Given the description of an element on the screen output the (x, y) to click on. 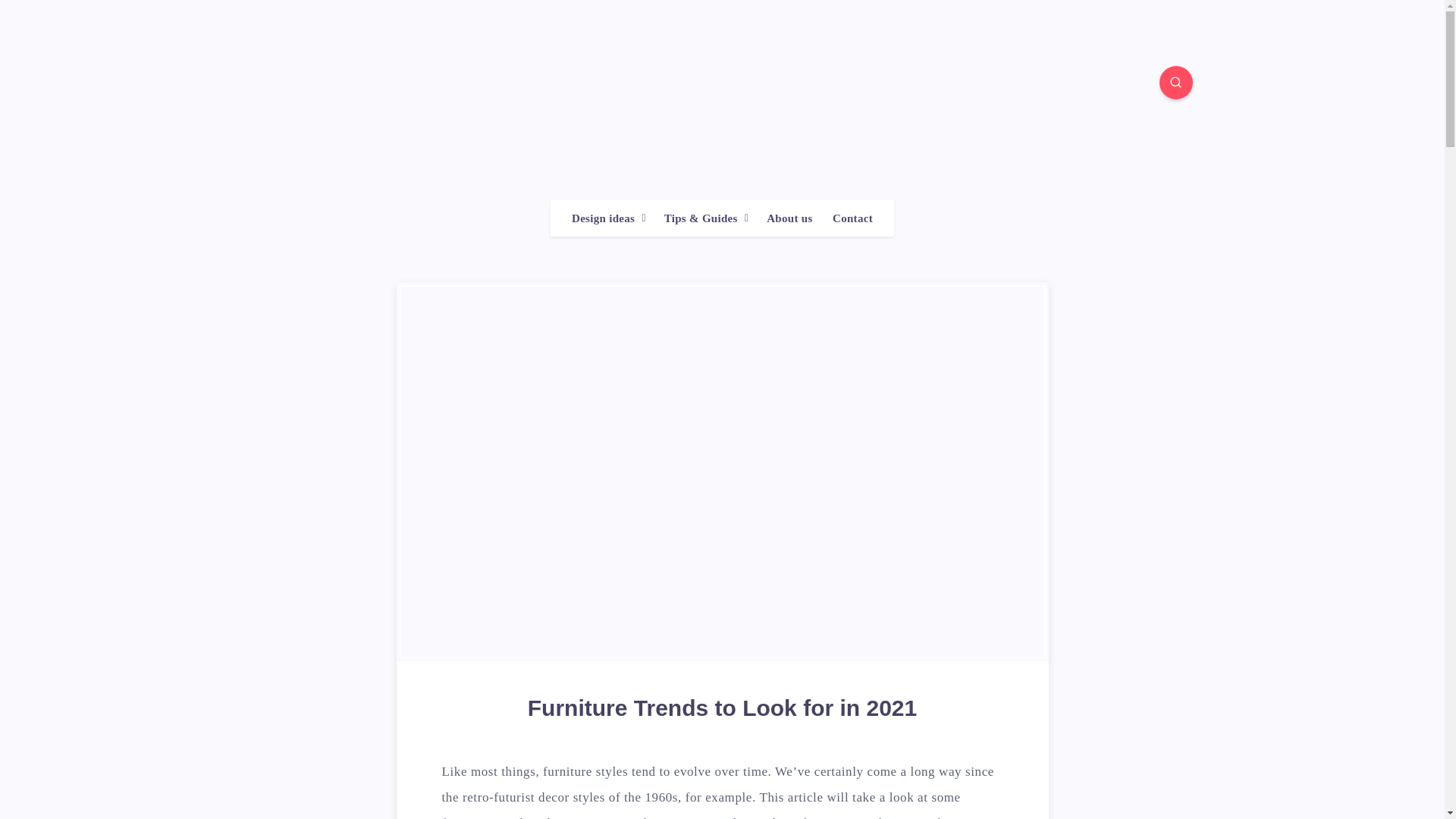
Contact (852, 218)
Design ideas (603, 218)
About us (789, 218)
